Given the description of an element on the screen output the (x, y) to click on. 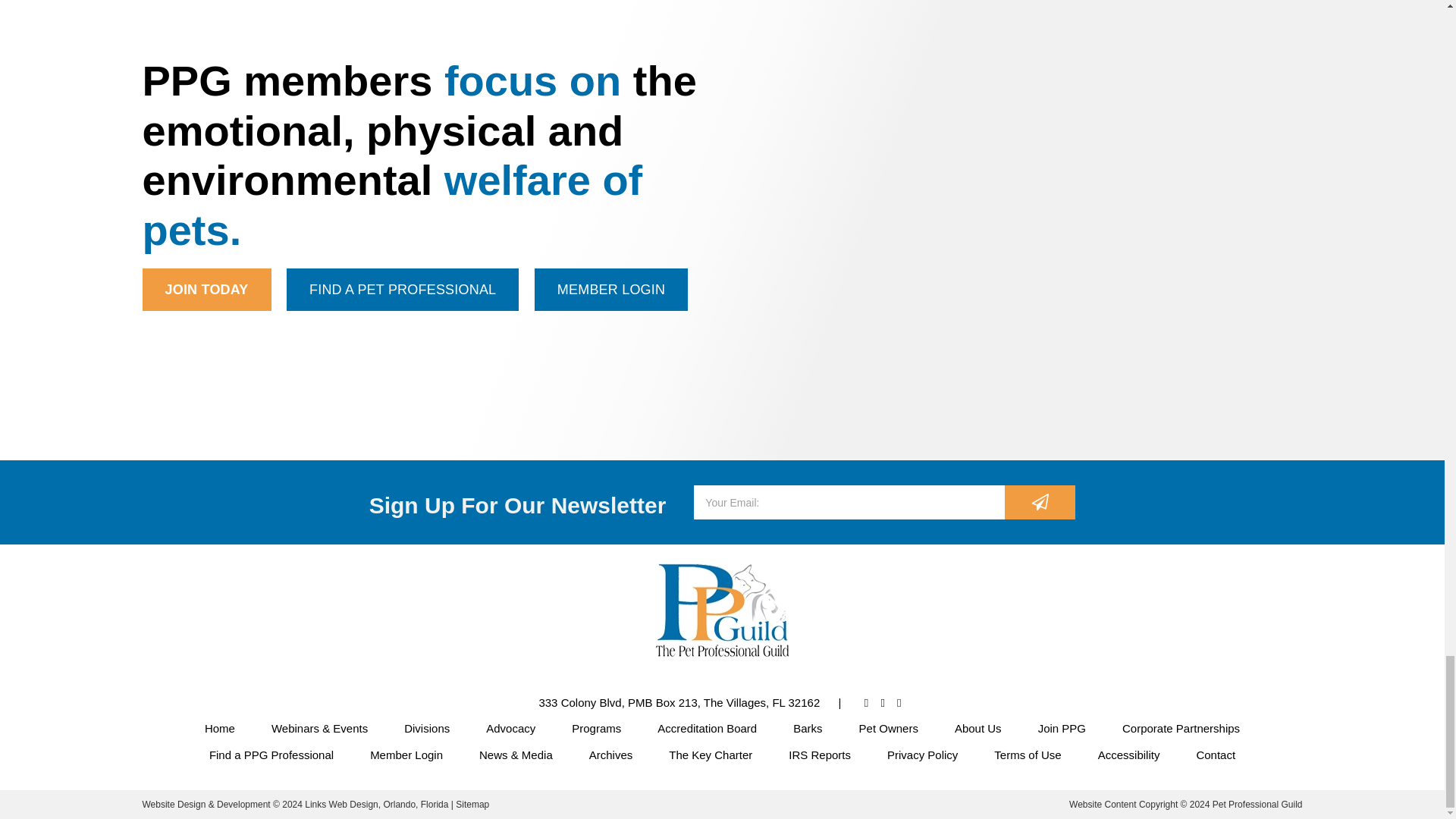
Links Web Design, Bangor, Maine (377, 804)
